Given the description of an element on the screen output the (x, y) to click on. 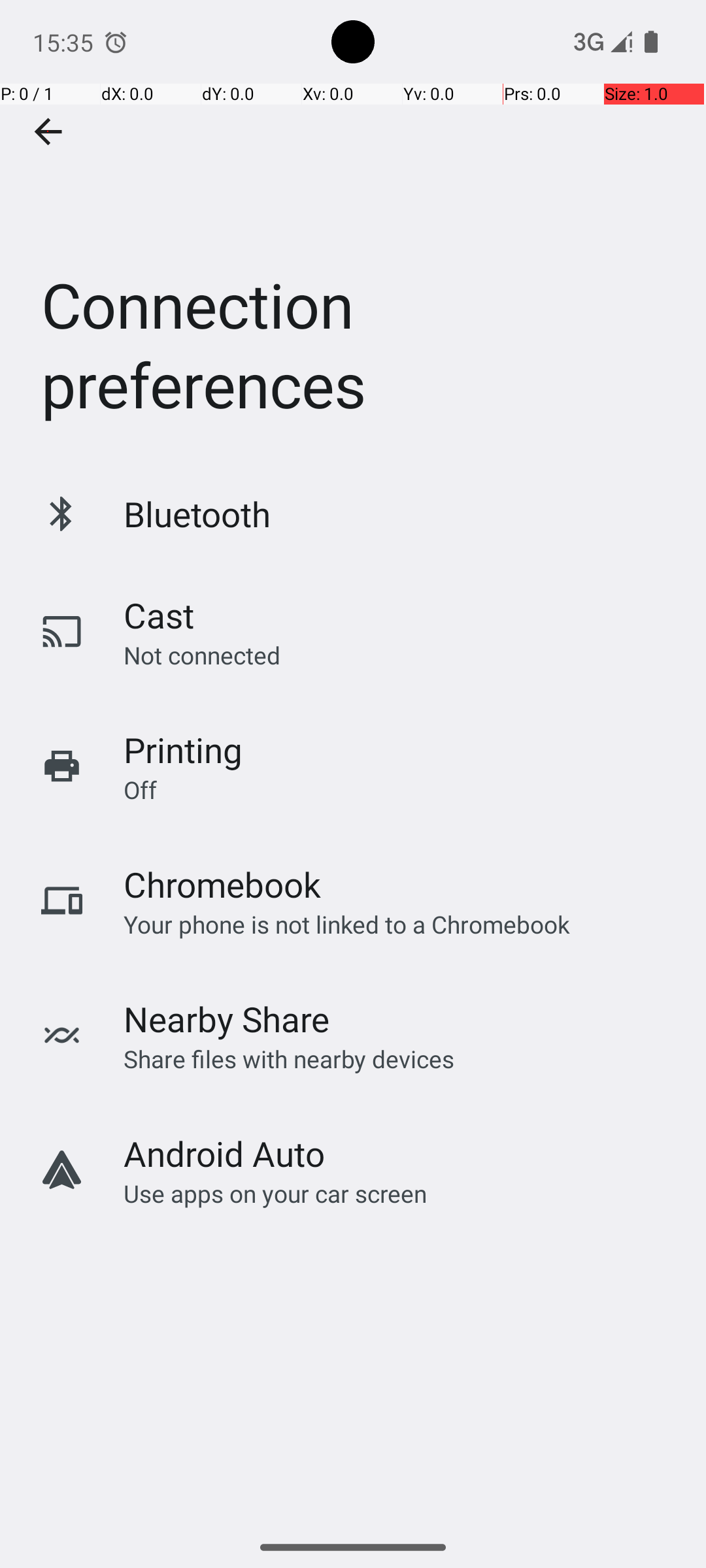
Not connected Element type: android.widget.TextView (201, 654)
Your phone is not linked to a Chromebook Element type: android.widget.TextView (346, 923)
Share files with nearby devices Element type: android.widget.TextView (288, 1058)
Use apps on your car screen Element type: android.widget.TextView (275, 1192)
